Given the description of an element on the screen output the (x, y) to click on. 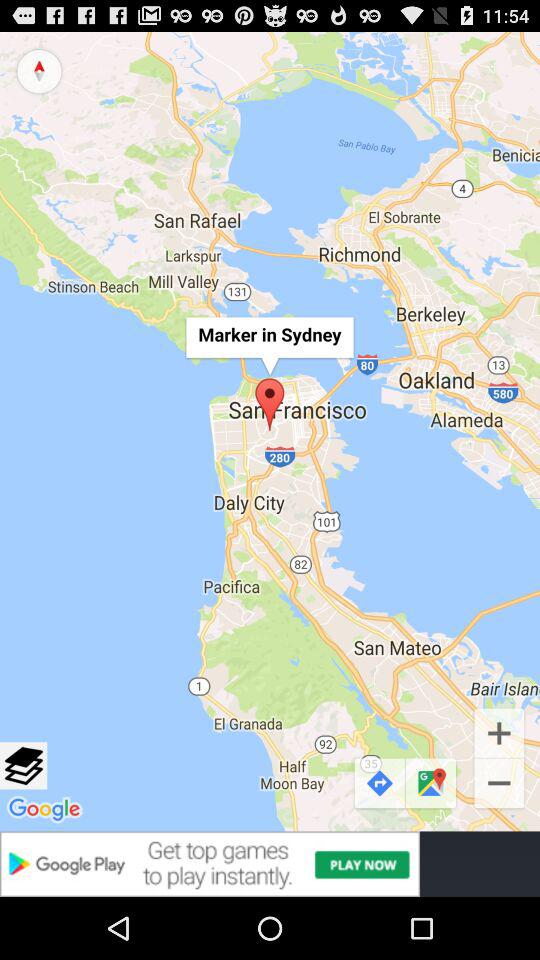
select here (23, 765)
